Given the description of an element on the screen output the (x, y) to click on. 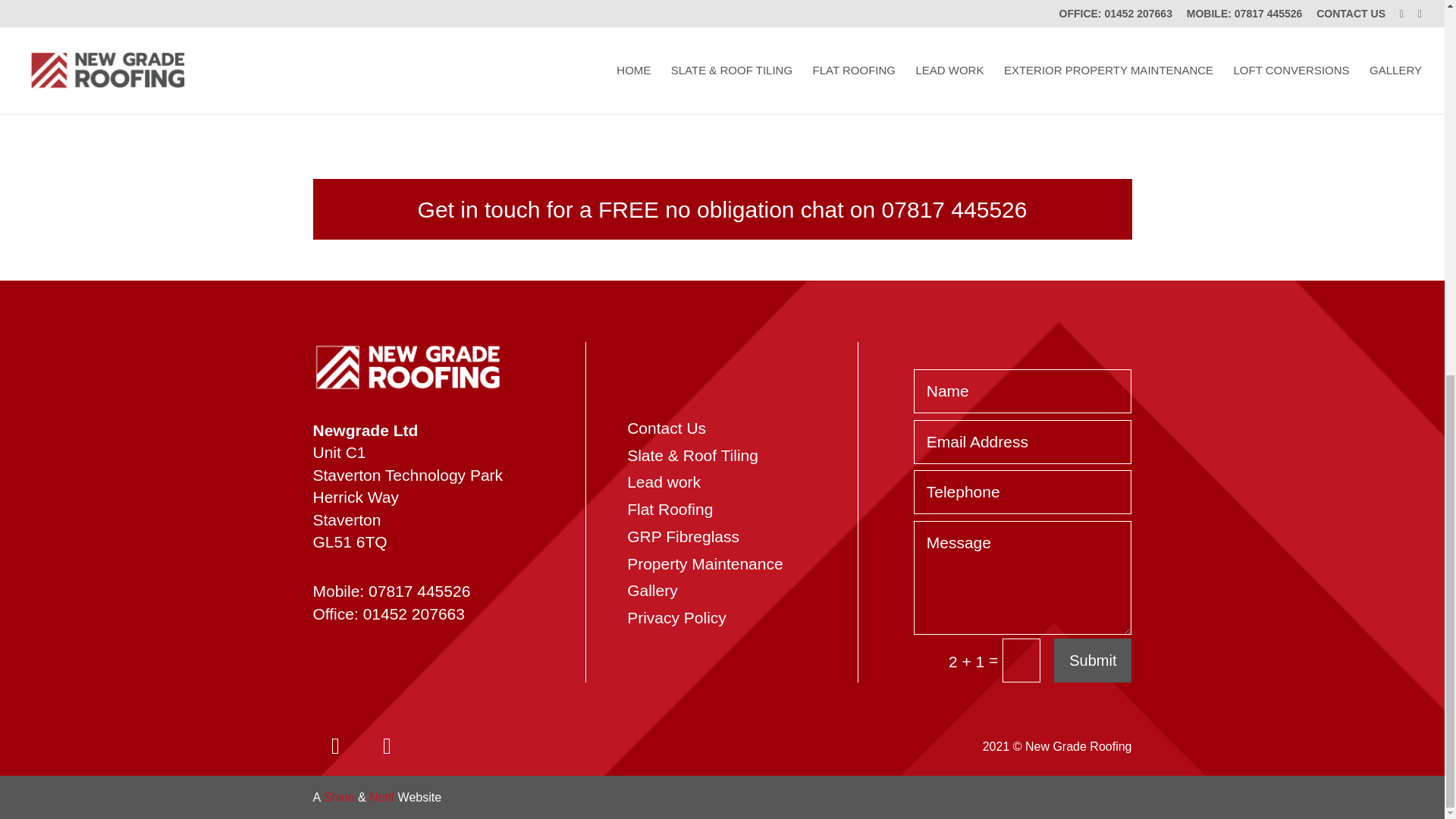
Submit (1092, 660)
Gallery (652, 589)
Lead work (663, 481)
Follow on Facebook (386, 746)
Property Maintenance (705, 562)
Follow on Instagram (335, 746)
Privacy Policy (676, 617)
Nettl (381, 797)
Request a FREE Quotation (984, 79)
Flat Roofing (670, 508)
Shine (339, 797)
Contact Us (666, 427)
